Given the description of an element on the screen output the (x, y) to click on. 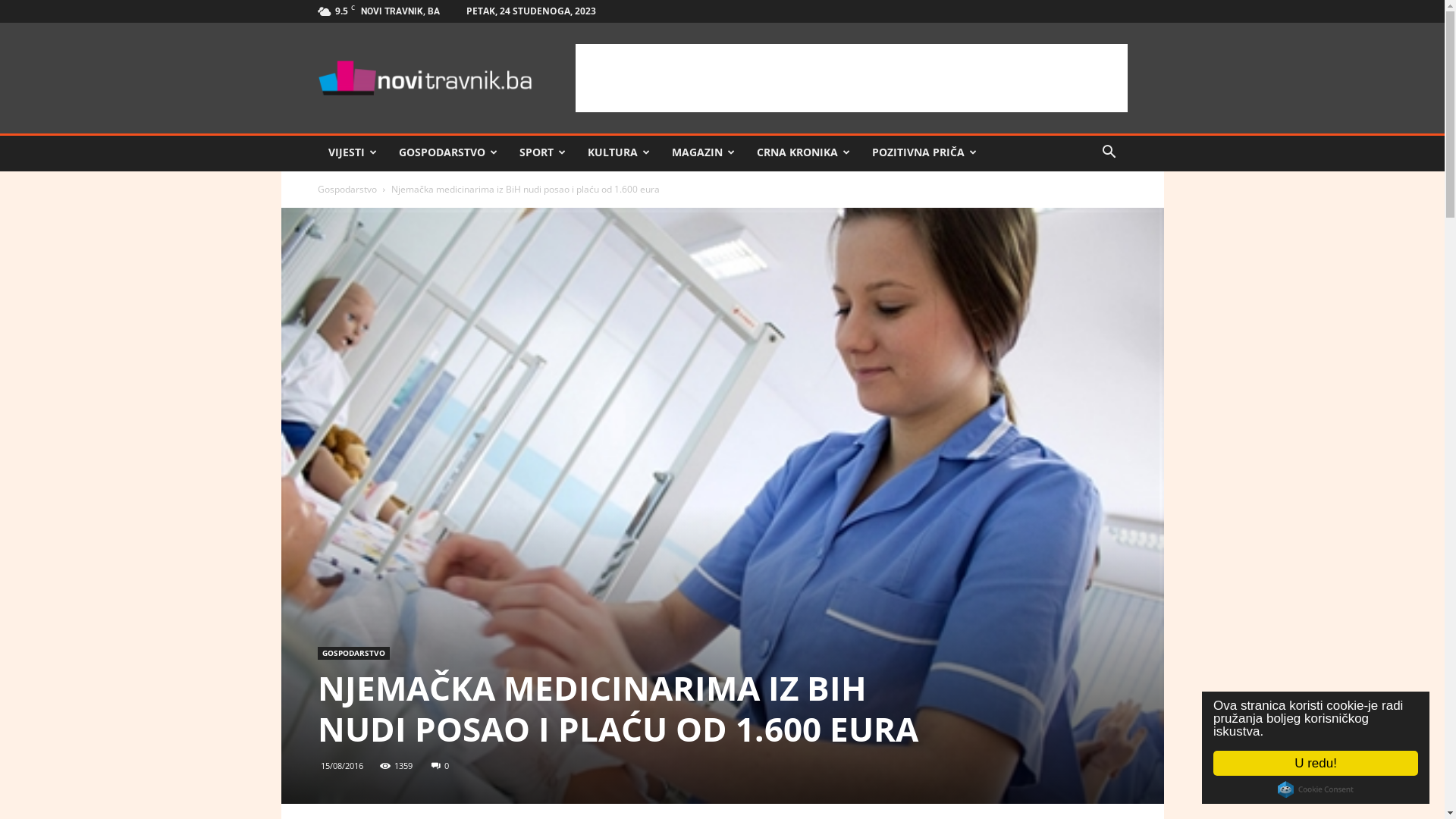
CRNA KRONIKA Element type: text (803, 152)
KULTURA Element type: text (618, 152)
Gospodarstvo Element type: text (346, 188)
GOSPODARSTVO Element type: text (448, 152)
U redu! Element type: text (1315, 762)
SPORT Element type: text (542, 152)
Advertisement Element type: hover (850, 77)
GOSPODARSTVO Element type: text (352, 652)
MAGAZIN Element type: text (703, 152)
medicina Element type: hover (721, 505)
Cookie Consent plugin for the EU cookie law Element type: text (1315, 789)
VIJESTI Element type: text (351, 152)
0 Element type: text (439, 765)
